Given the description of an element on the screen output the (x, y) to click on. 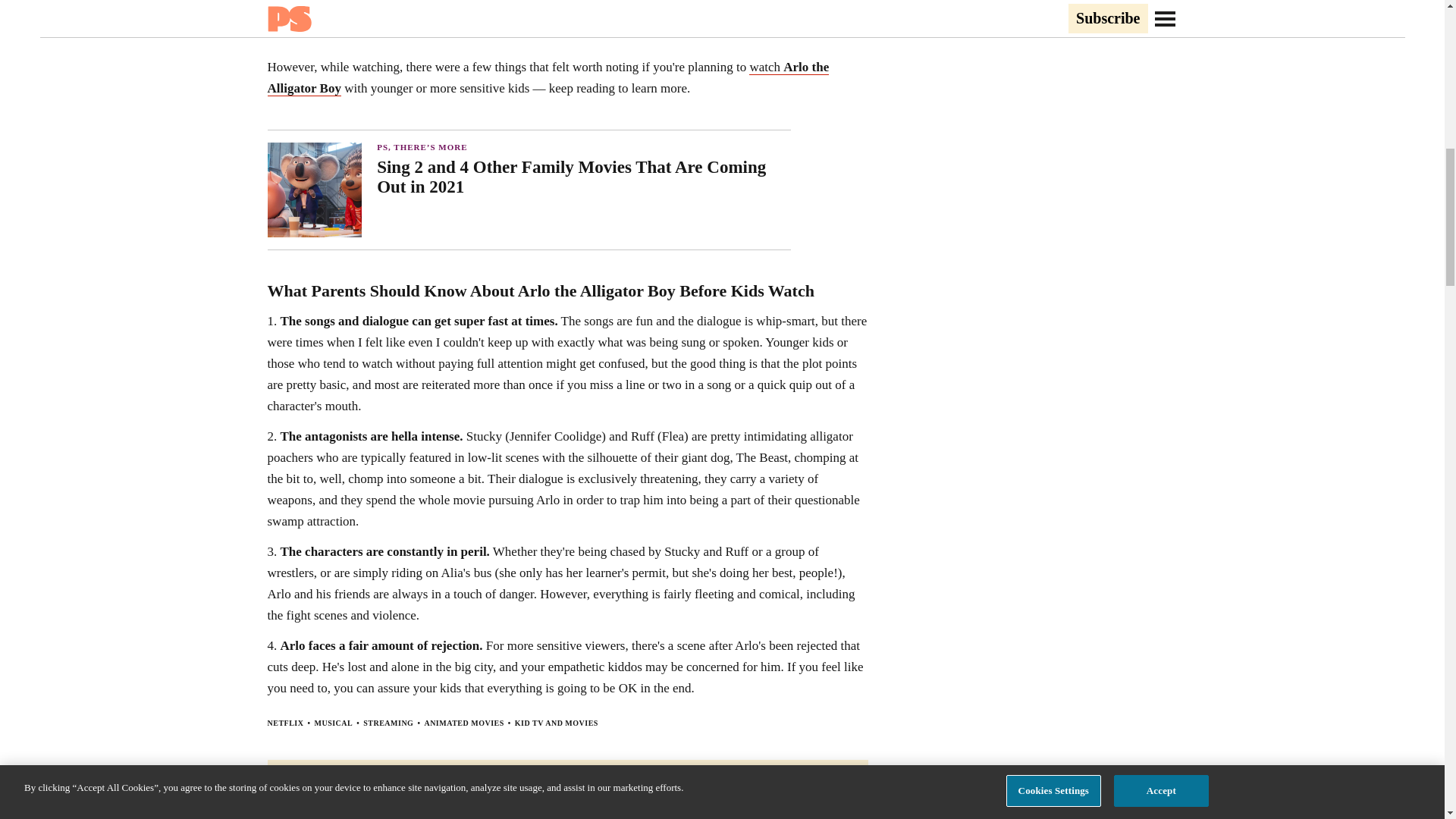
MUSICAL (333, 723)
STREAMING (387, 723)
KID TV AND MOVIES (556, 723)
NETFLIX (284, 723)
watch Arlo the Alligator Boy (547, 77)
ANIMATED MOVIES (463, 723)
Sing 2 and 4 Other Family Movies That Are Coming Out in 2021 (583, 177)
